Given the description of an element on the screen output the (x, y) to click on. 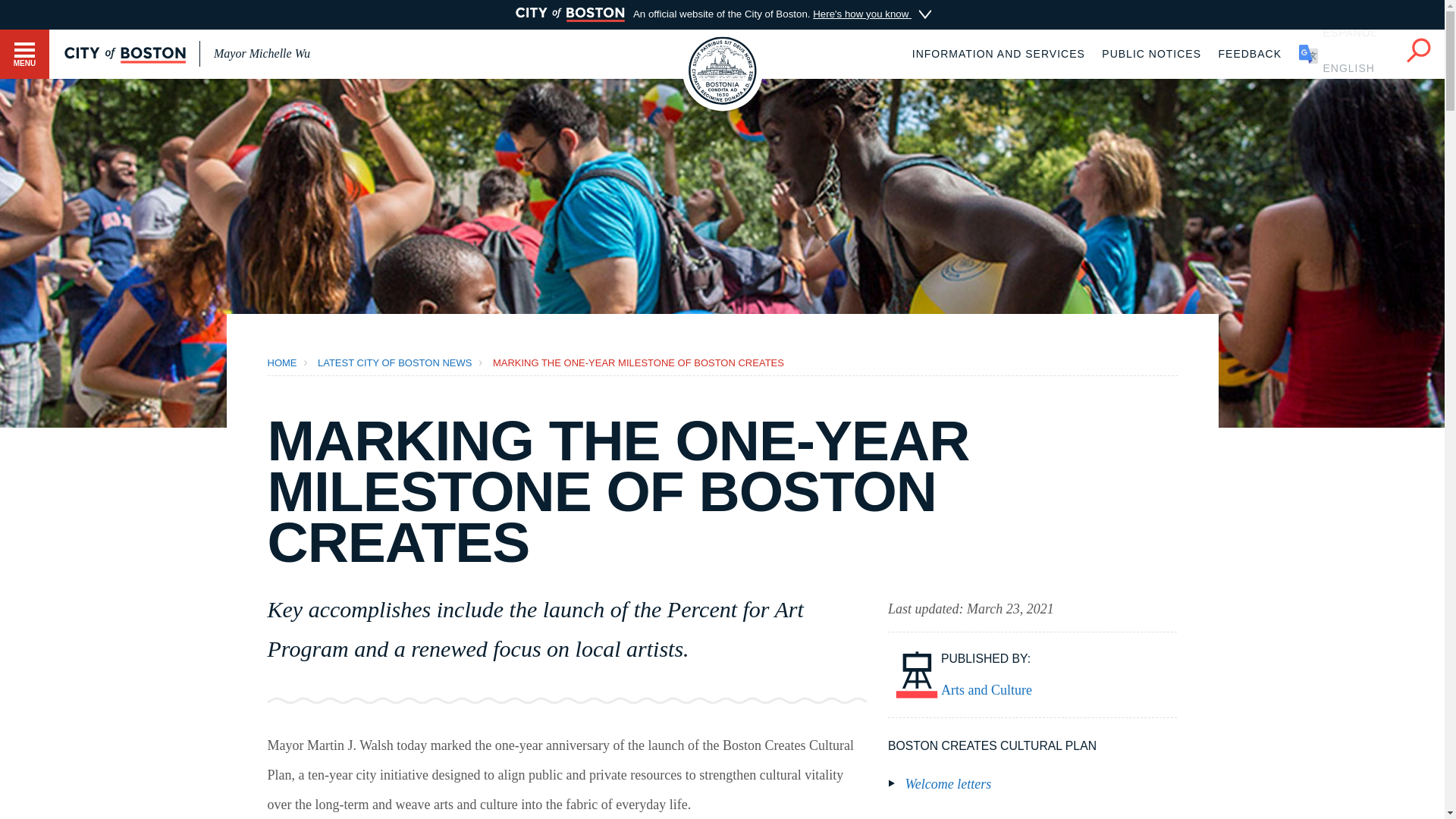
Search (1418, 46)
ENGLISH (1343, 53)
SEARCH (1418, 50)
Translate (1343, 53)
FEEDBACK (1249, 53)
PUBLIC NOTICES (1151, 53)
INFORMATION AND SERVICES (998, 53)
Mayor Michelle Wu (262, 52)
